Given the description of an element on the screen output the (x, y) to click on. 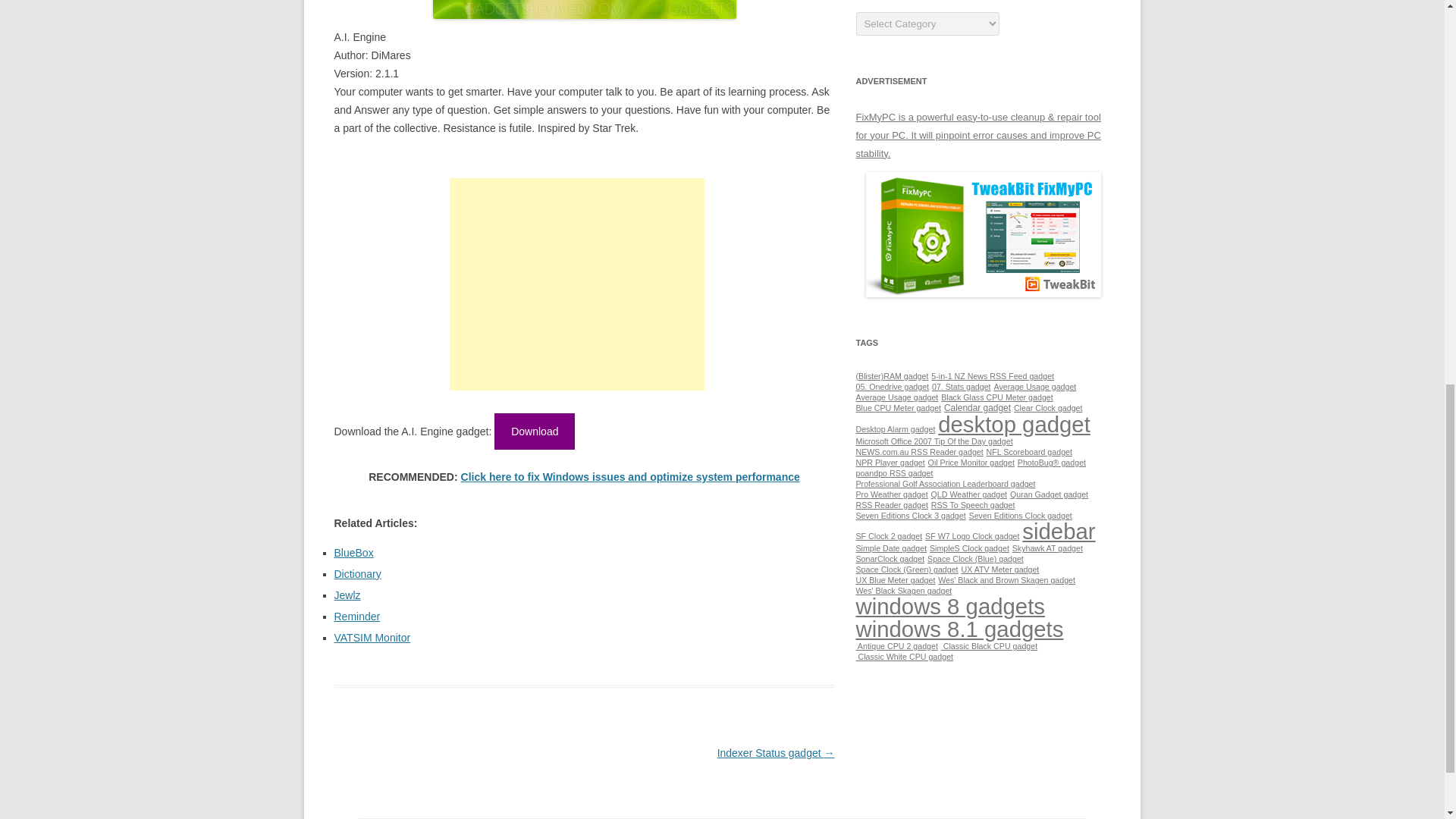
NEWS.com.au RSS Reader gadget (919, 451)
Professional Golf Association Leaderboard gadget (945, 483)
Reminder (356, 616)
NPR Player gadget (890, 461)
Desktop Alarm gadget (895, 429)
Blue CPU Meter gadget (898, 407)
NFL Scoreboard gadget (1029, 451)
Oil Price Monitor gadget (971, 461)
Download (535, 431)
